Given the description of an element on the screen output the (x, y) to click on. 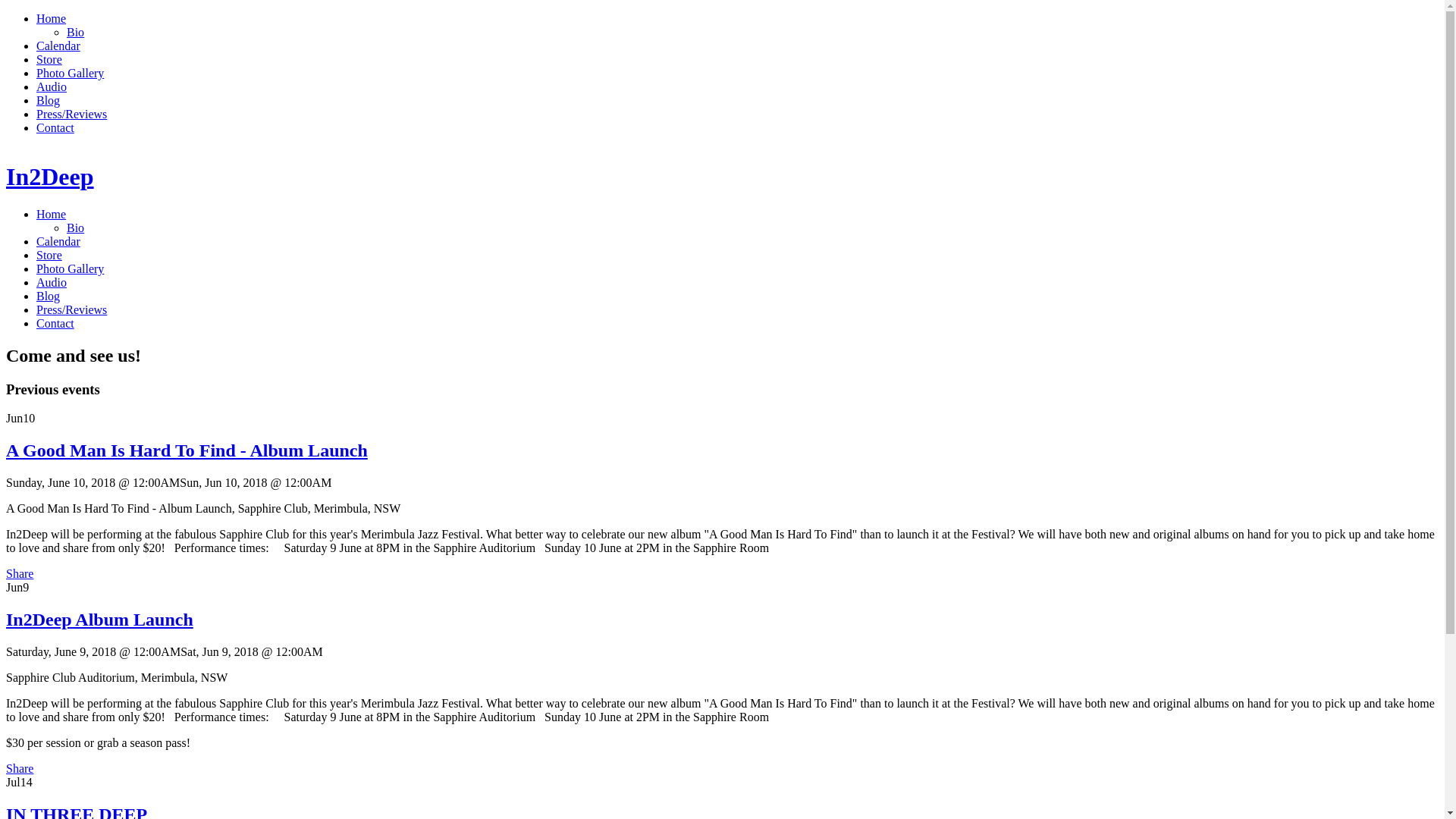
In2Deep Album Launch Element type: text (99, 619)
Store Element type: text (49, 254)
Blog Element type: text (47, 295)
Photo Gallery Element type: text (69, 72)
Press/Reviews Element type: text (71, 309)
Home Element type: text (50, 18)
Calendar Element type: text (58, 241)
Blog Element type: text (47, 100)
Bio Element type: text (75, 31)
Contact Element type: text (55, 127)
Share Element type: text (19, 573)
Audio Element type: text (51, 86)
Store Element type: text (49, 59)
A Good Man Is Hard To Find - Album Launch Element type: text (186, 450)
In2Deep Element type: text (50, 176)
Bio Element type: text (75, 227)
Photo Gallery Element type: text (69, 268)
Calendar Element type: text (58, 45)
Press/Reviews Element type: text (71, 113)
Share Element type: text (19, 768)
Contact Element type: text (55, 322)
Audio Element type: text (51, 282)
Home Element type: text (50, 213)
